Given the description of an element on the screen output the (x, y) to click on. 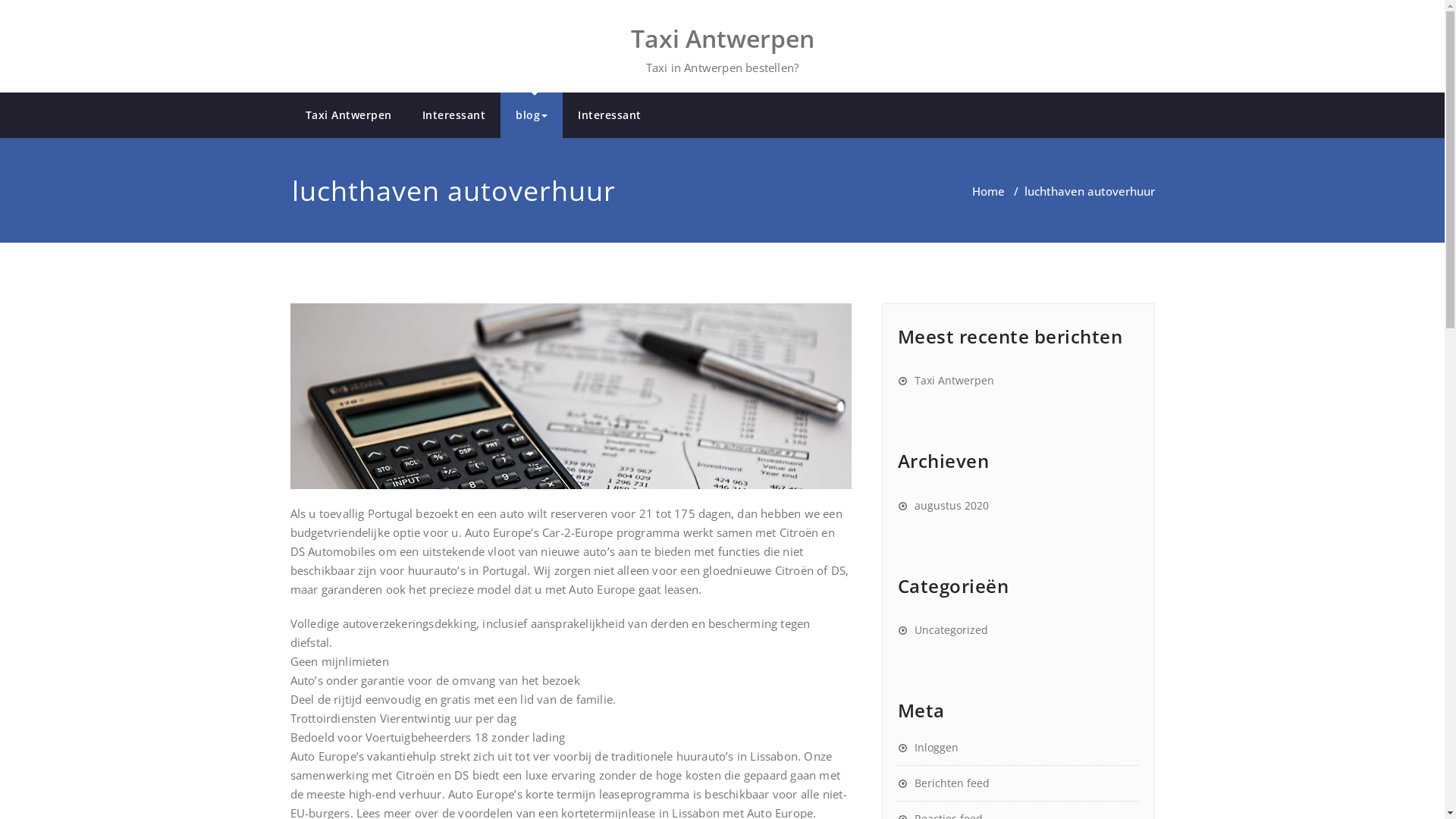
Taxi Antwerpen Element type: text (347, 115)
Taxi Antwerpen Element type: text (945, 380)
Taxi Antwerpen Element type: text (722, 36)
augustus 2020 Element type: text (942, 505)
Inloggen Element type: text (927, 747)
Uncategorized Element type: text (942, 629)
Interessant Element type: text (609, 115)
blog Element type: text (531, 115)
Berichten feed Element type: text (943, 782)
Home Element type: text (988, 190)
Interessant Element type: text (453, 115)
